Given the description of an element on the screen output the (x, y) to click on. 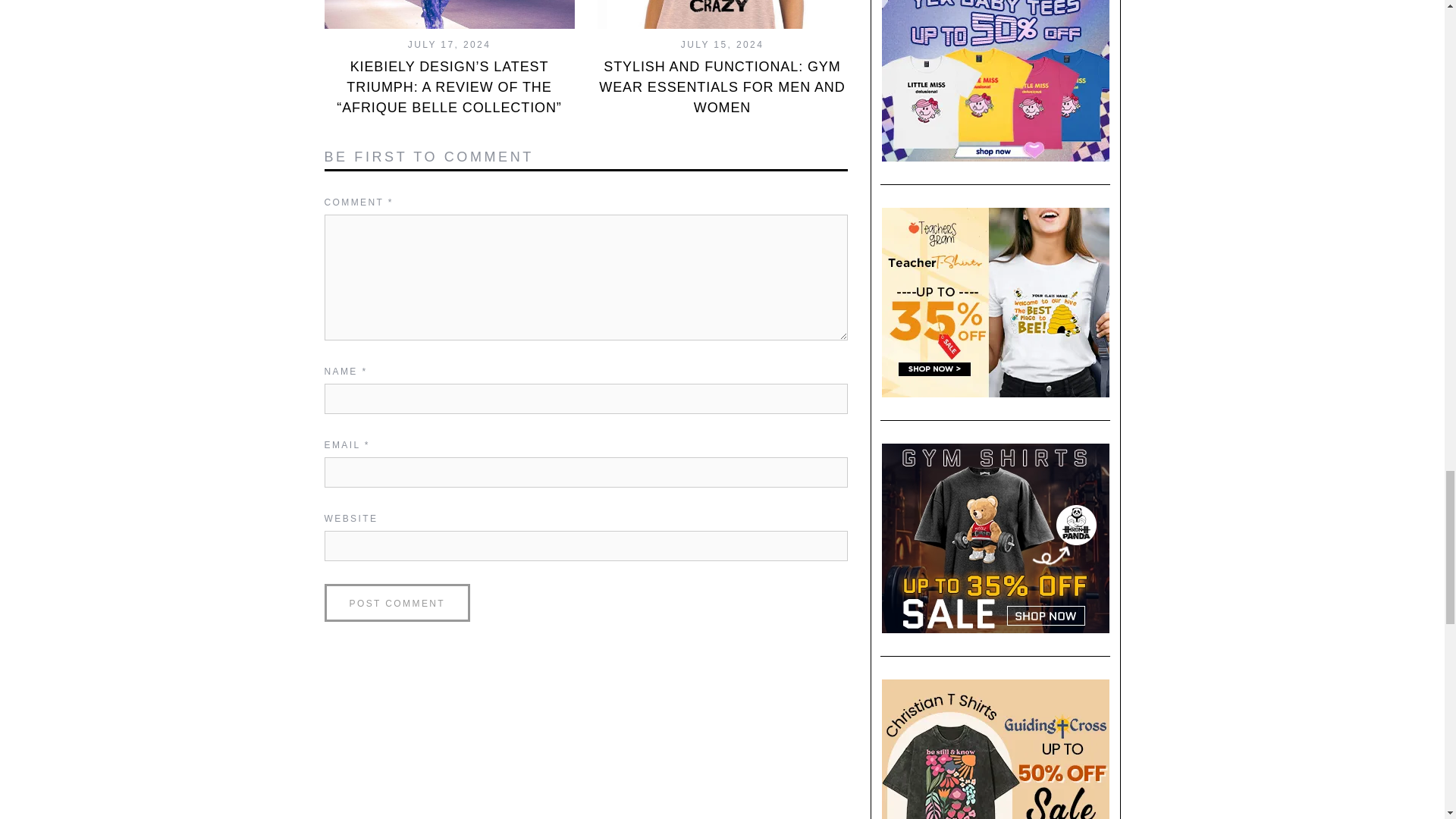
baby tees (994, 80)
teacher shirt (994, 302)
christian t shirts (994, 749)
gym shirts (994, 538)
Post Comment (397, 602)
